Given the description of an element on the screen output the (x, y) to click on. 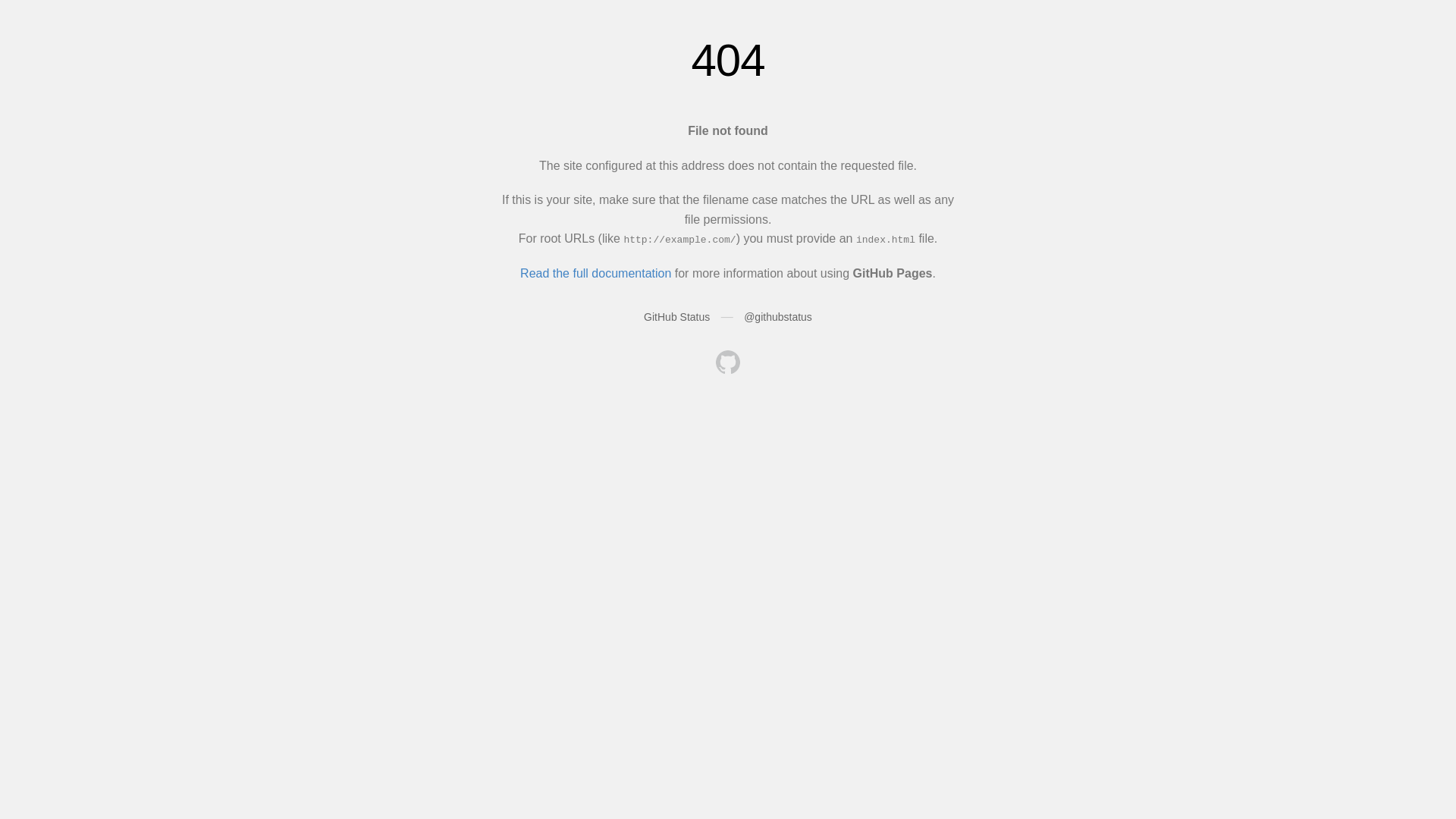
GitHub Status Element type: text (676, 316)
@githubstatus Element type: text (777, 316)
Read the full documentation Element type: text (595, 272)
